Given the description of an element on the screen output the (x, y) to click on. 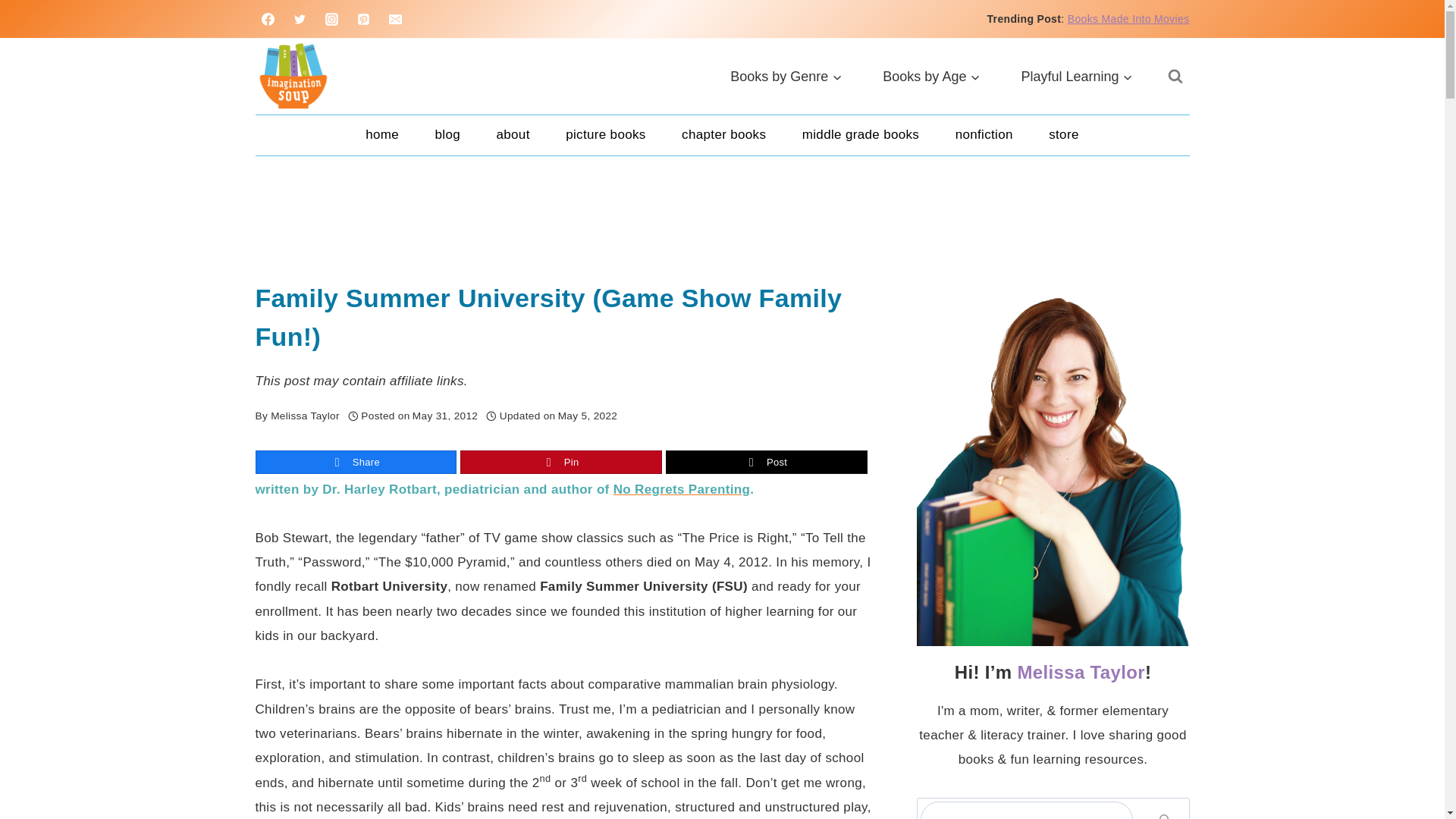
Books Made Into Movies (1128, 19)
Books by Genre (785, 76)
Books by Age (930, 76)
Playful Learning (1076, 76)
